Given the description of an element on the screen output the (x, y) to click on. 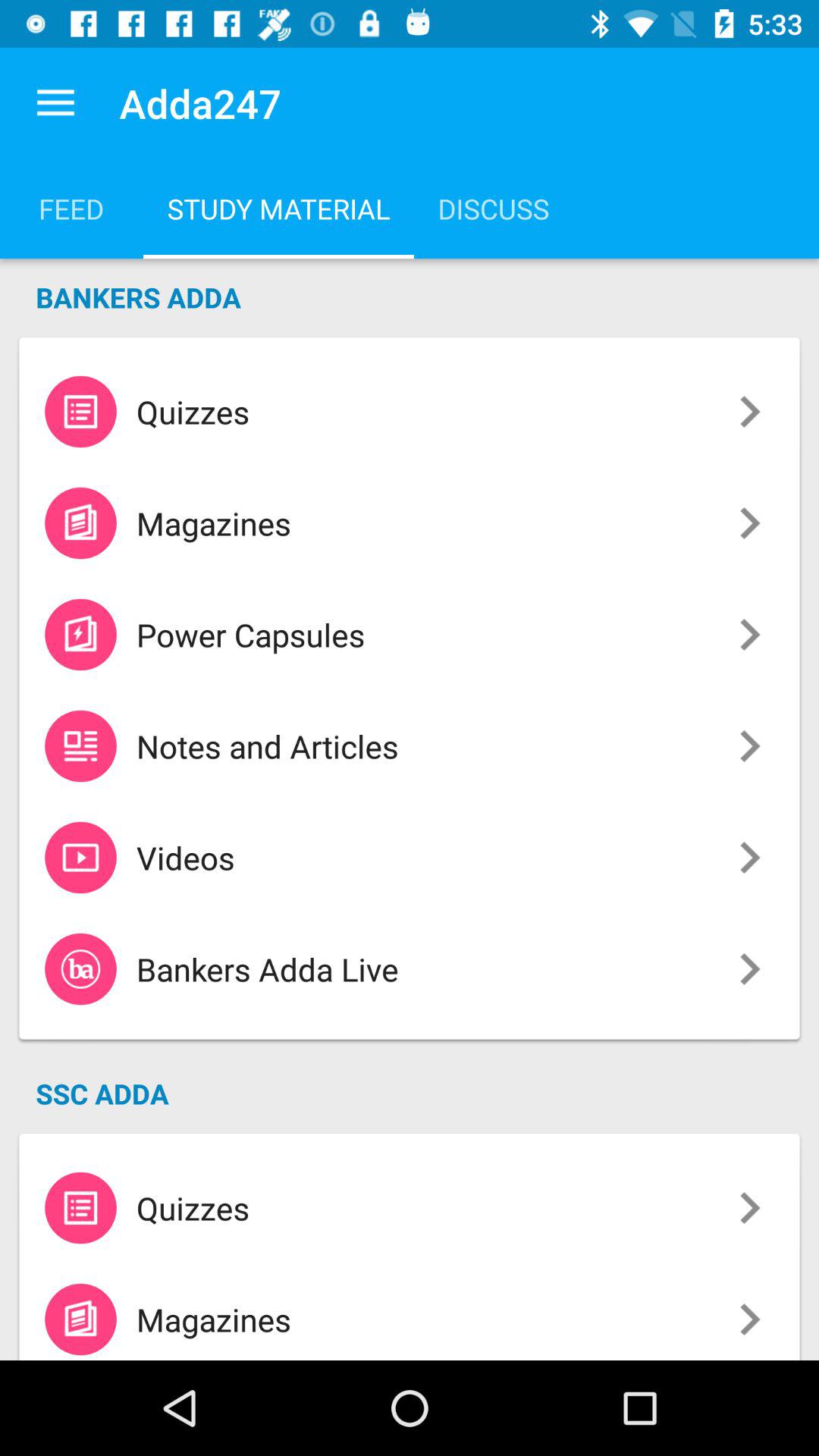
select the 3rd icon from the top (81, 633)
click on the first arrow which is next to quizzes (749, 411)
select the right scroll in the 3rd option (749, 635)
select the icon which is present to the left of 1st quizzes (81, 410)
